Given the description of an element on the screen output the (x, y) to click on. 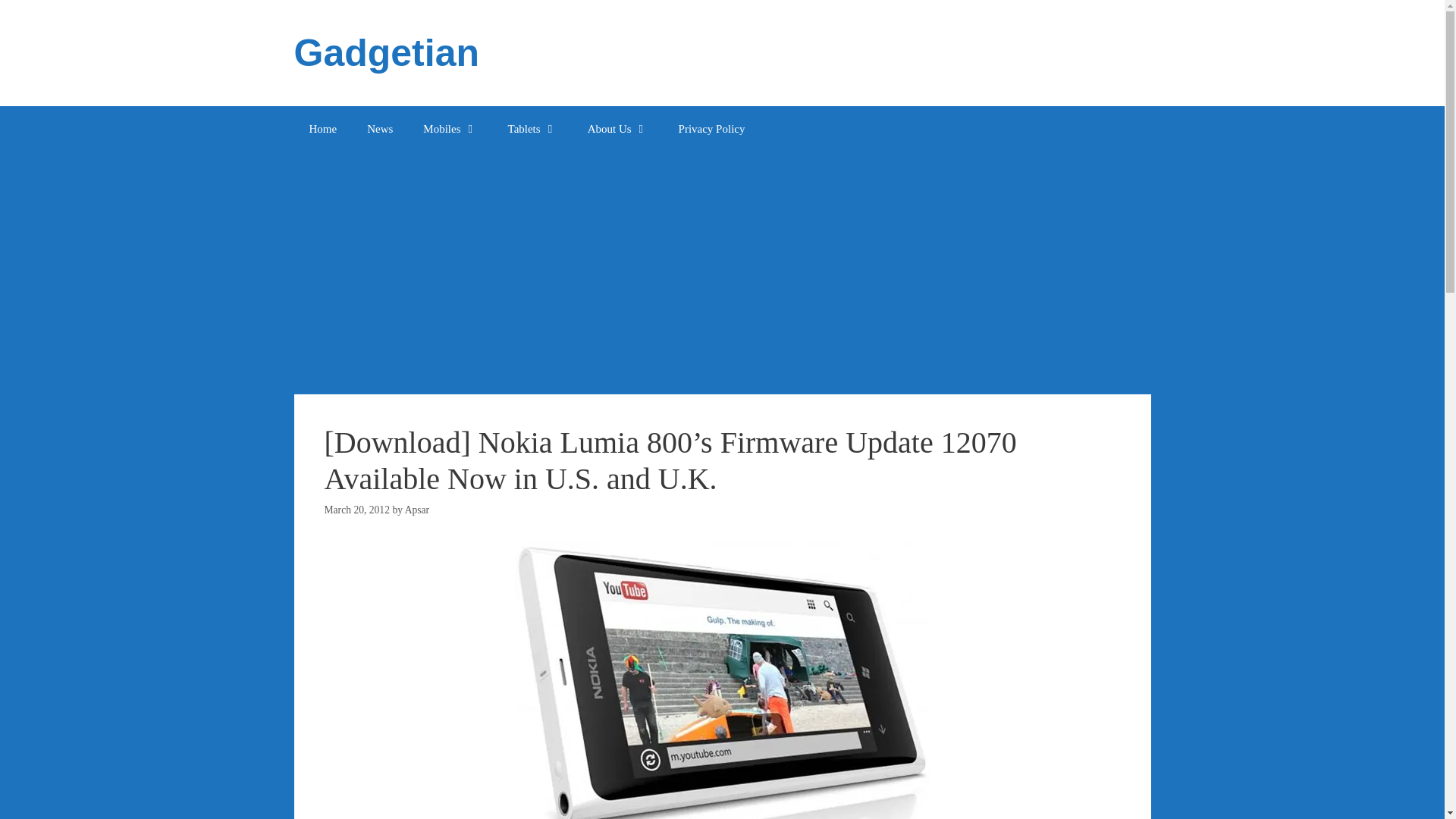
About Us (617, 128)
Home (323, 128)
Gadgetian (386, 52)
View all posts by Apsar (416, 509)
Privacy Policy (711, 128)
Tablets (532, 128)
Apsar (416, 509)
News (379, 128)
Mobiles (449, 128)
